Given the description of an element on the screen output the (x, y) to click on. 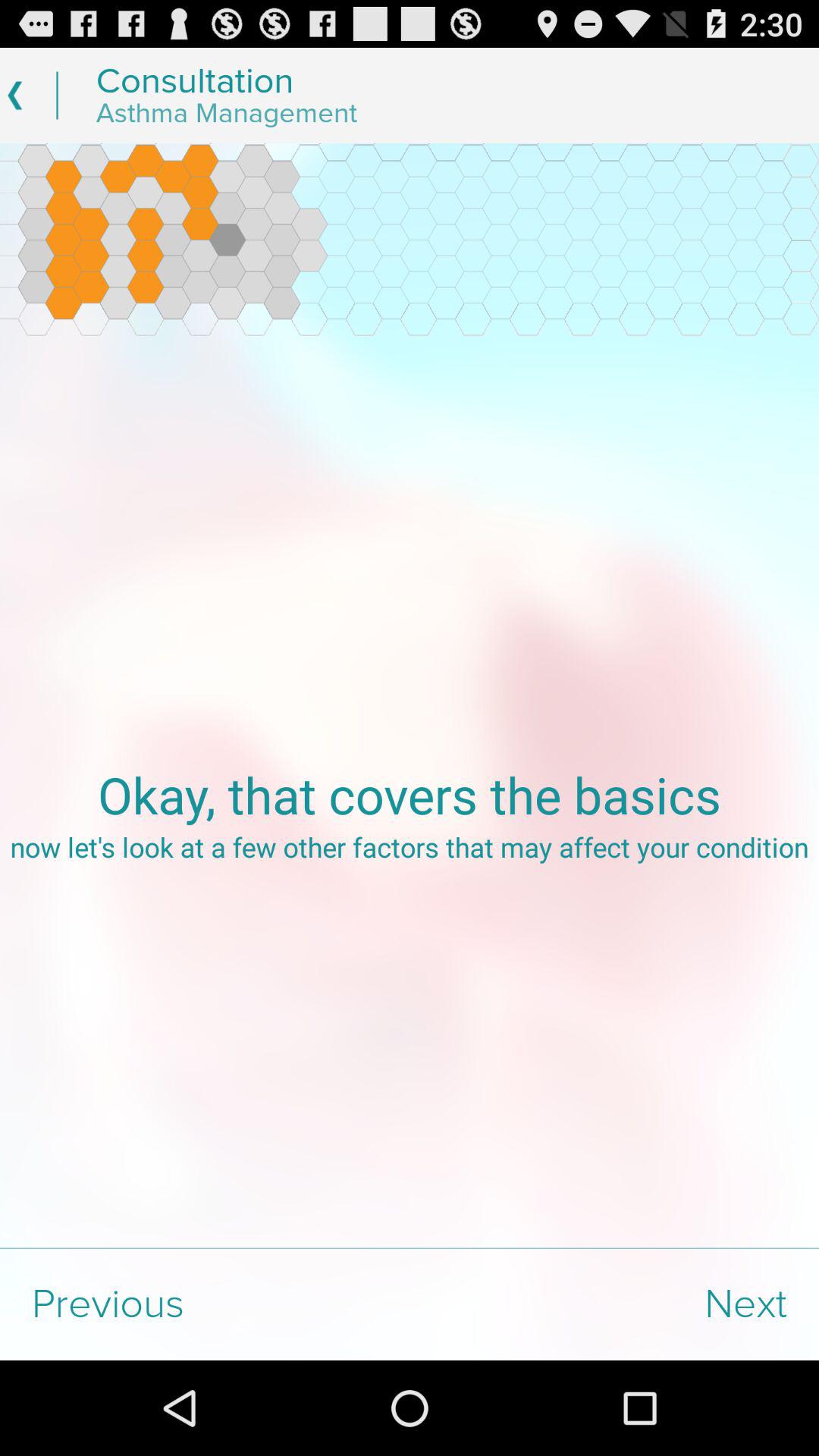
turn on the app at the bottom right corner (614, 1304)
